Given the description of an element on the screen output the (x, y) to click on. 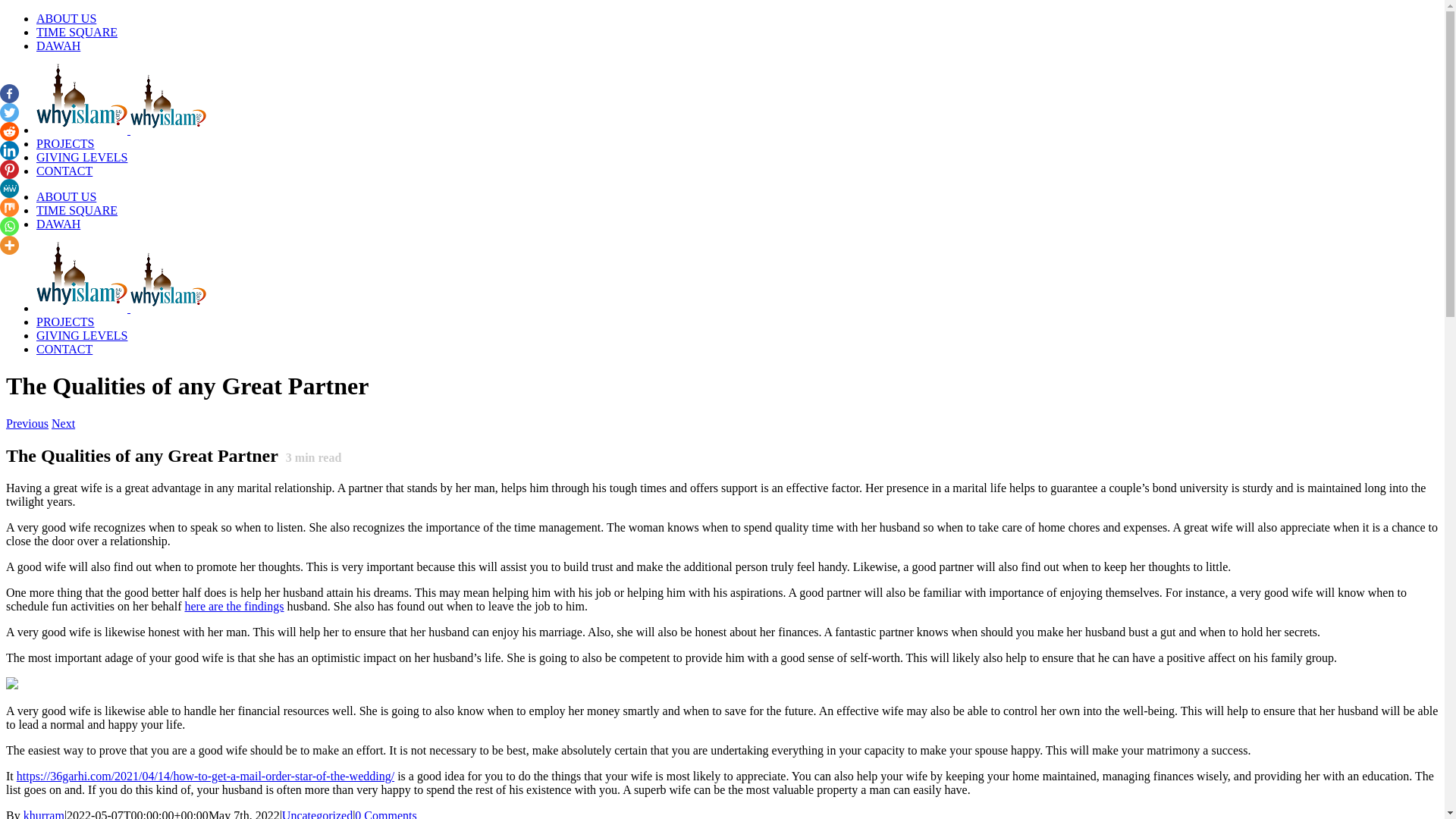
MeWe (9, 188)
CONTACT (64, 349)
Uncategorized (317, 814)
Next (62, 422)
GIVING LEVELS (82, 156)
0 Comments (385, 814)
GIVING LEVELS (82, 335)
Mix (9, 207)
PROJECTS (65, 321)
here are the findings (233, 605)
Whatsapp (9, 226)
khurram (43, 814)
Facebook (9, 93)
ABOUT US (66, 18)
